Given the description of an element on the screen output the (x, y) to click on. 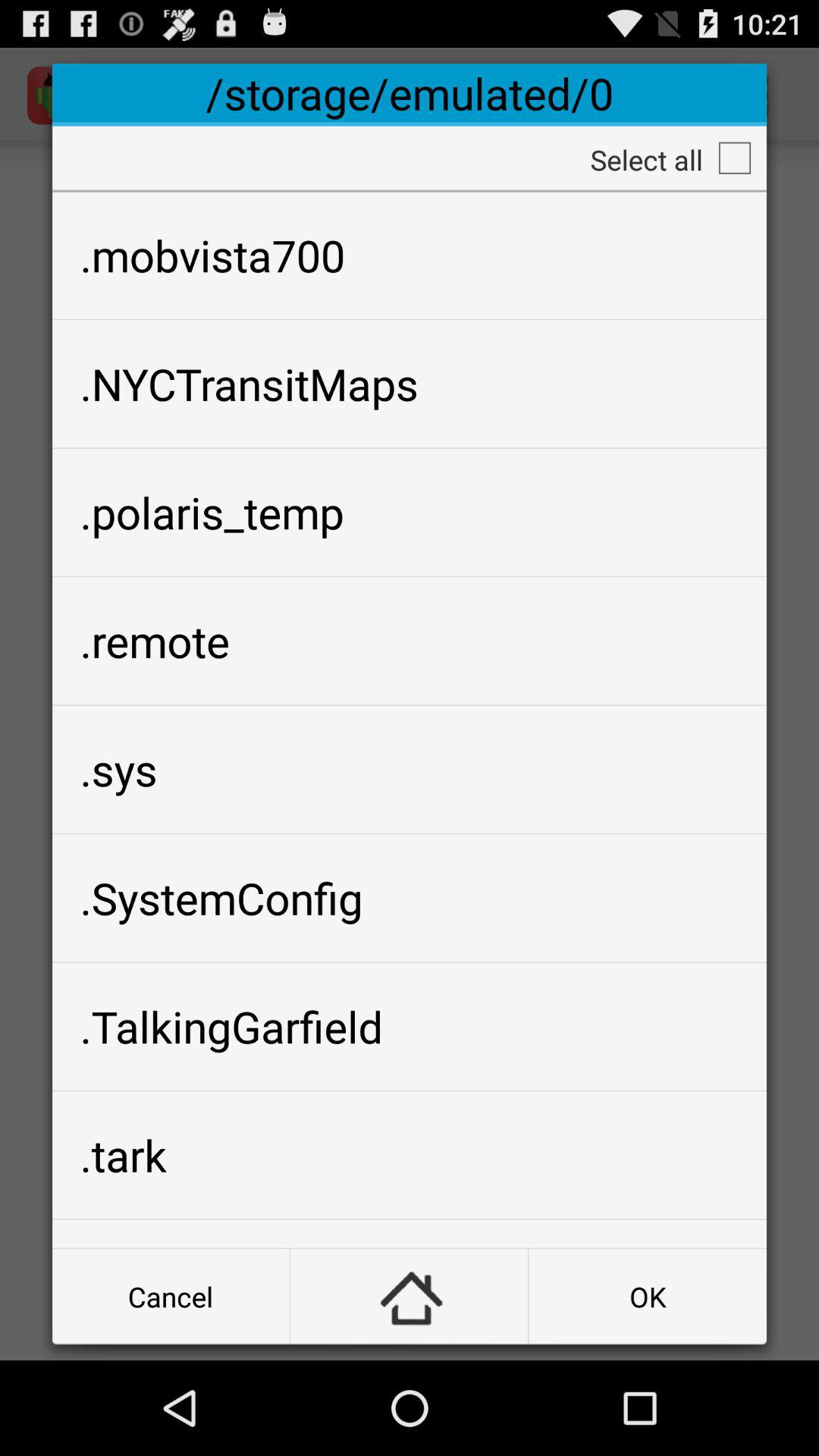
swipe until cancel item (170, 1296)
